Given the description of an element on the screen output the (x, y) to click on. 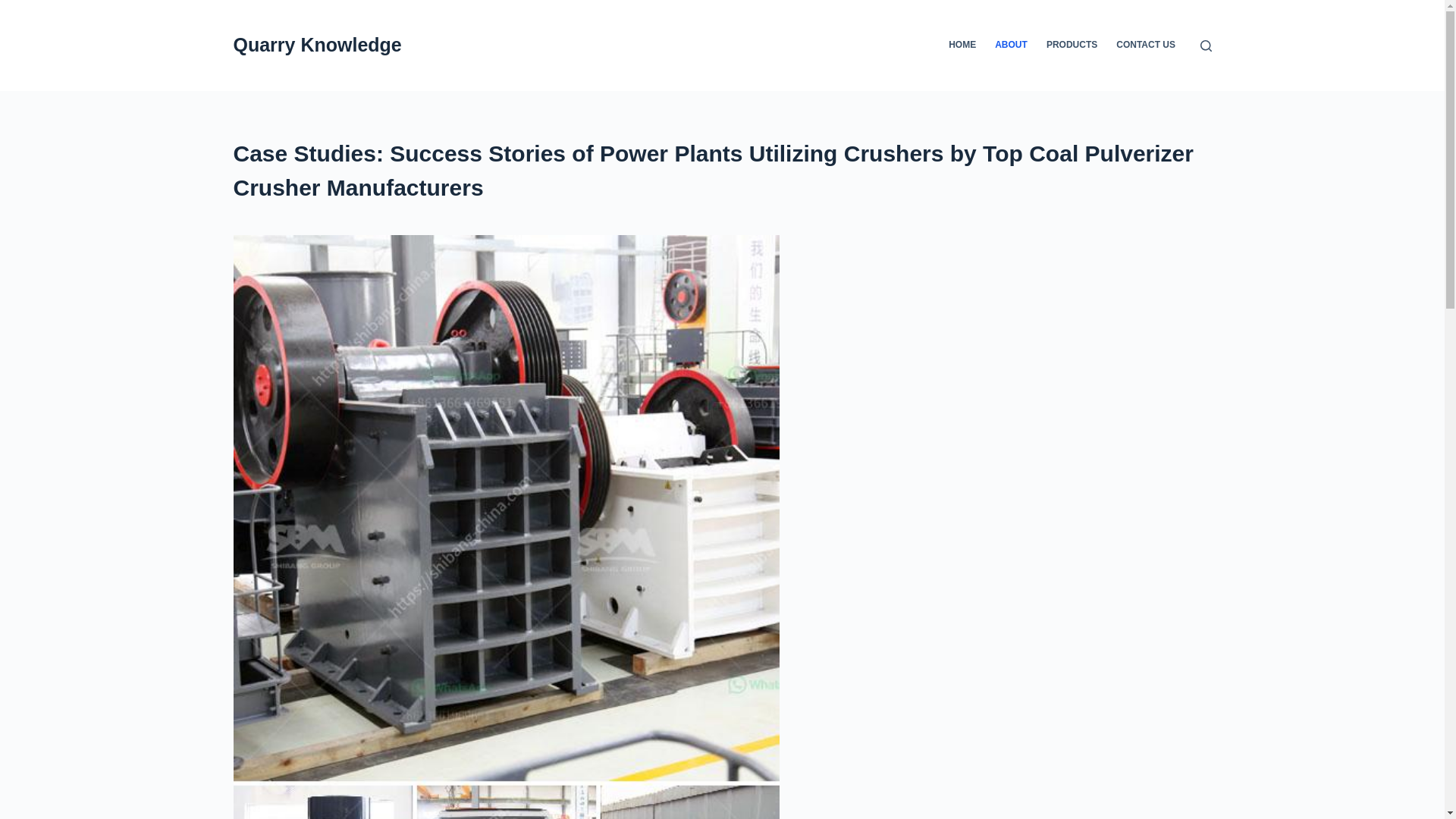
About (721, 170)
Quarry Knowledge (316, 44)
Skip to content (15, 7)
